Given the description of an element on the screen output the (x, y) to click on. 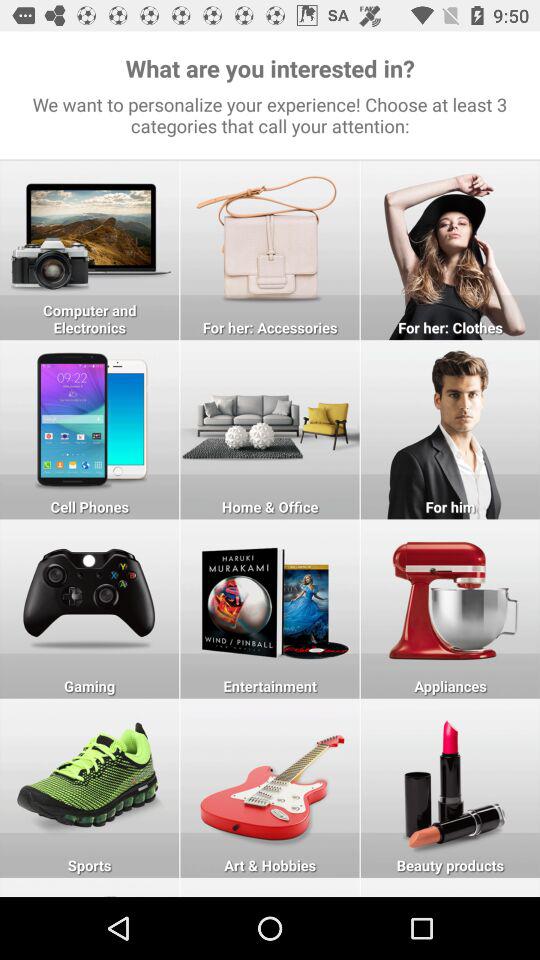
click to for her accessories (269, 250)
